Given the description of an element on the screen output the (x, y) to click on. 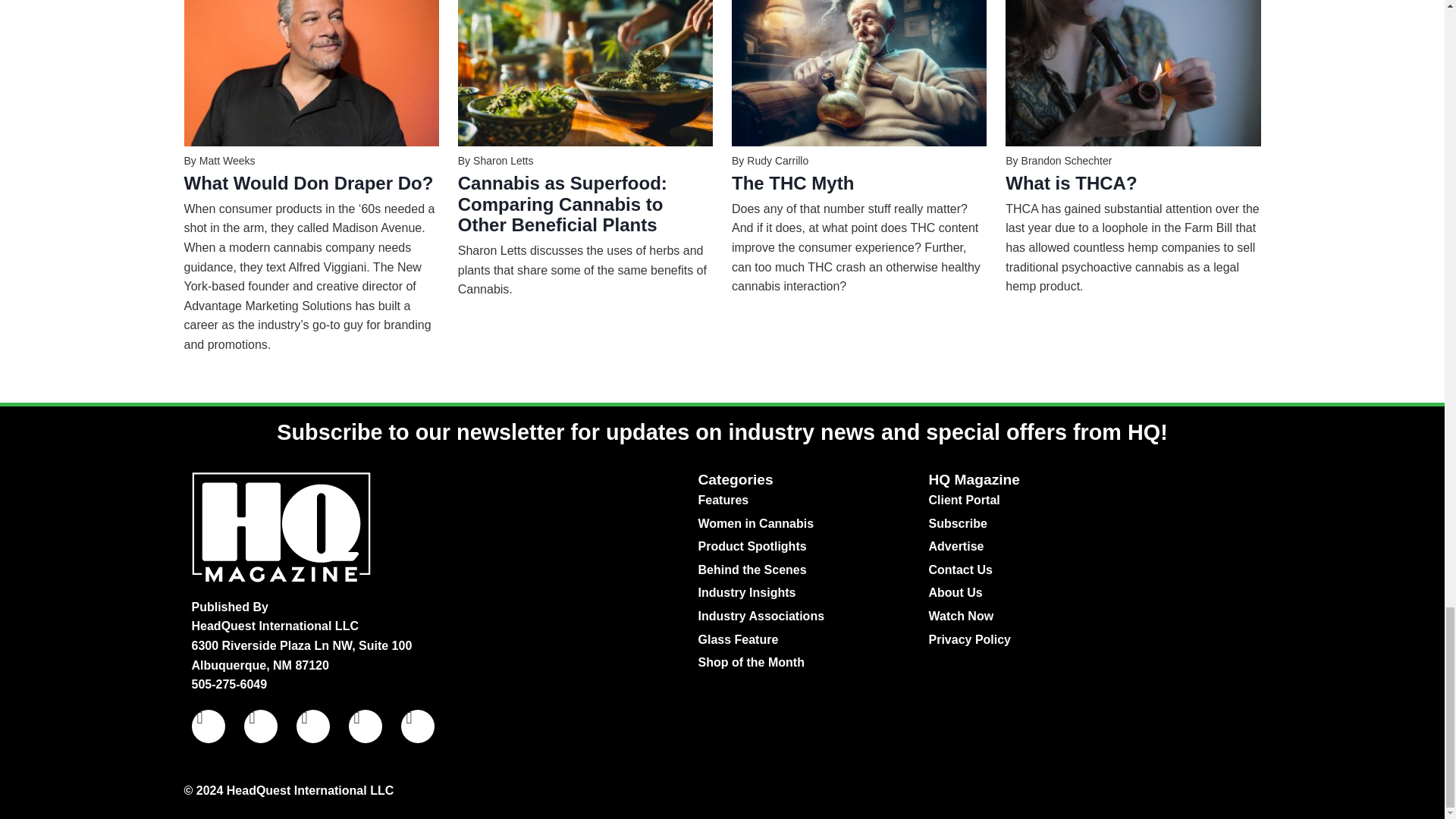
Alfred-Viggiani-Cover (310, 73)
what-is-thca (1133, 73)
Gramps-Edited (859, 73)
